Given the description of an element on the screen output the (x, y) to click on. 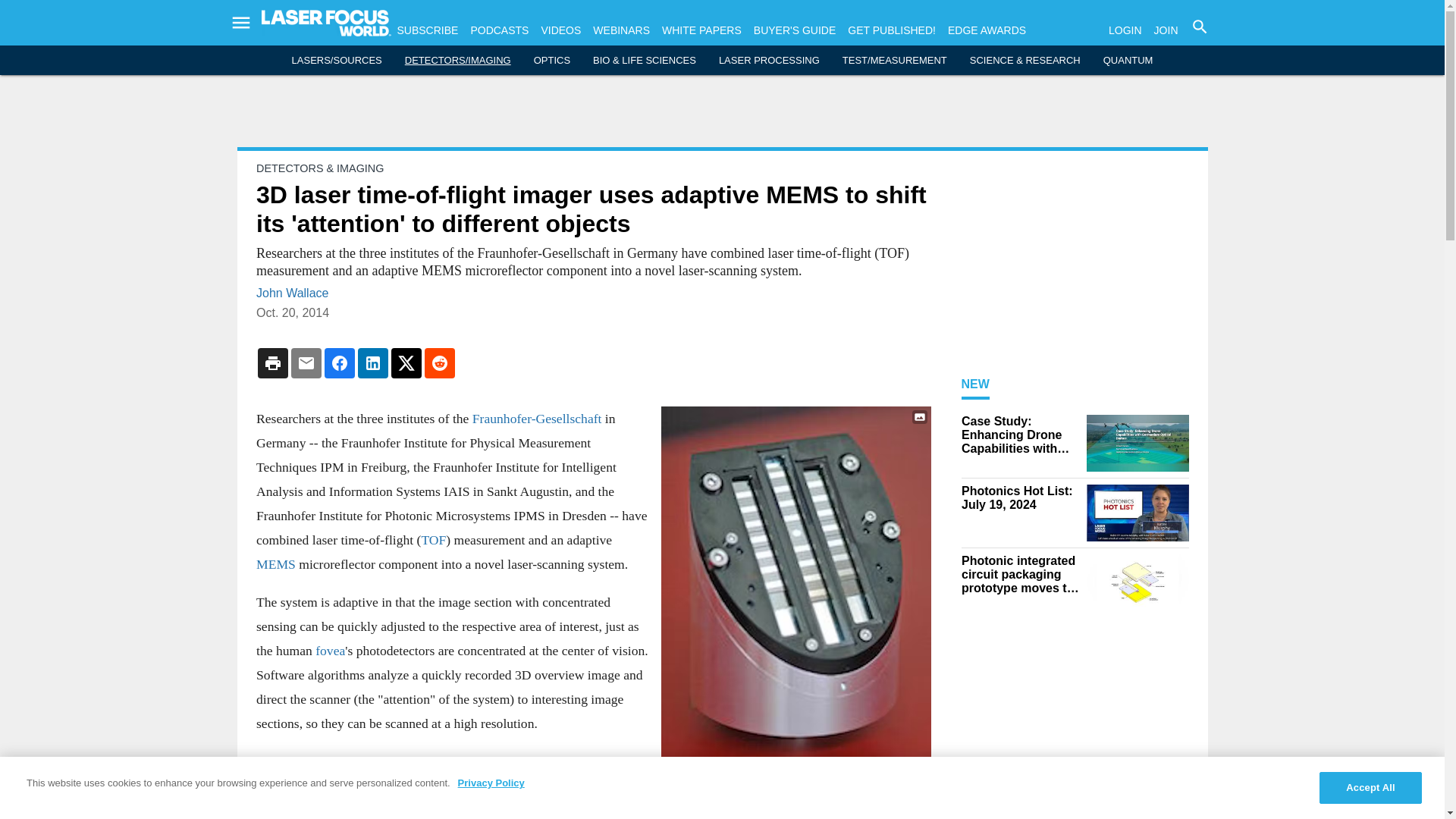
PODCASTS (499, 30)
GET PUBLISHED! (891, 30)
LASER PROCESSING (769, 60)
EDGE AWARDS (986, 30)
LOGIN (1124, 30)
WHITE PAPERS (701, 30)
VIDEOS (560, 30)
JOIN (1165, 30)
BUYER'S GUIDE (794, 30)
QUANTUM (1128, 60)
OPTICS (552, 60)
WEBINARS (620, 30)
SUBSCRIBE (427, 30)
